Given the description of an element on the screen output the (x, y) to click on. 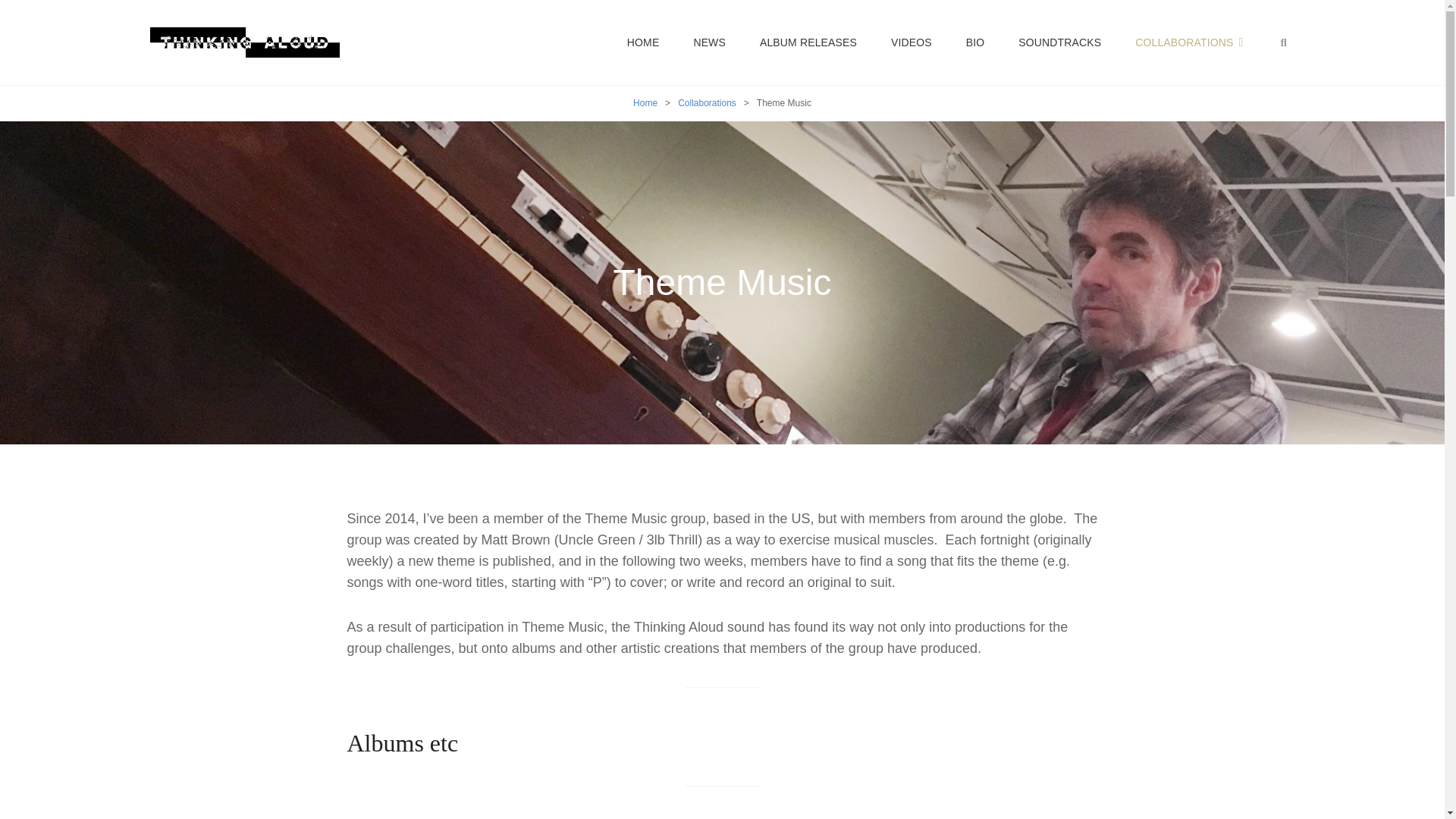
NEWS (709, 42)
SOUNDTRACKS (1059, 42)
HOME (643, 42)
ALBUM RELEASES (808, 42)
Collaborations (707, 102)
Home (645, 102)
VIDEOS (911, 42)
COLLABORATIONS (1188, 42)
SEARCH (1283, 41)
THINKING ALOUD (456, 55)
